Given the description of an element on the screen output the (x, y) to click on. 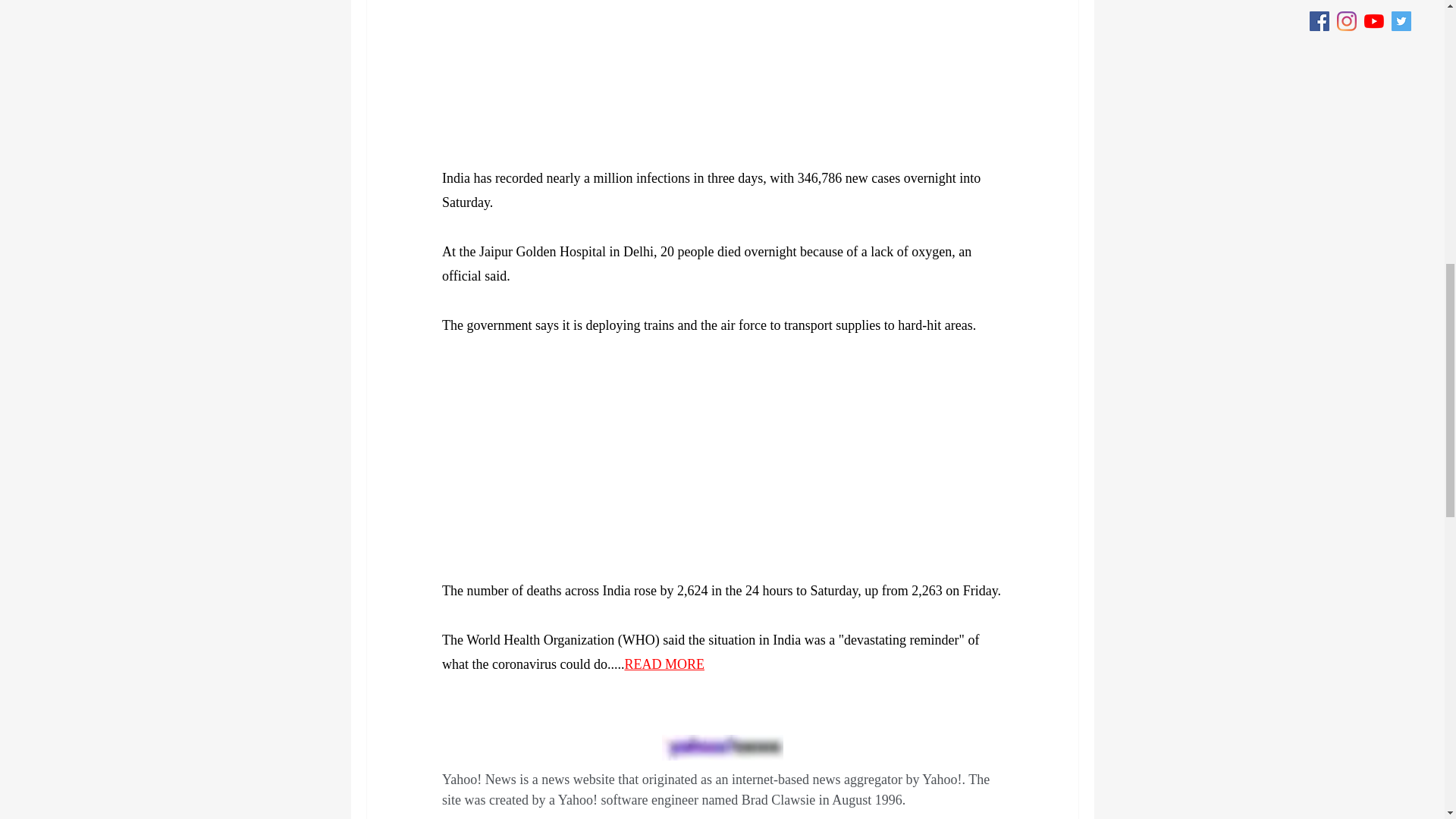
READ MORE (664, 663)
